Given the description of an element on the screen output the (x, y) to click on. 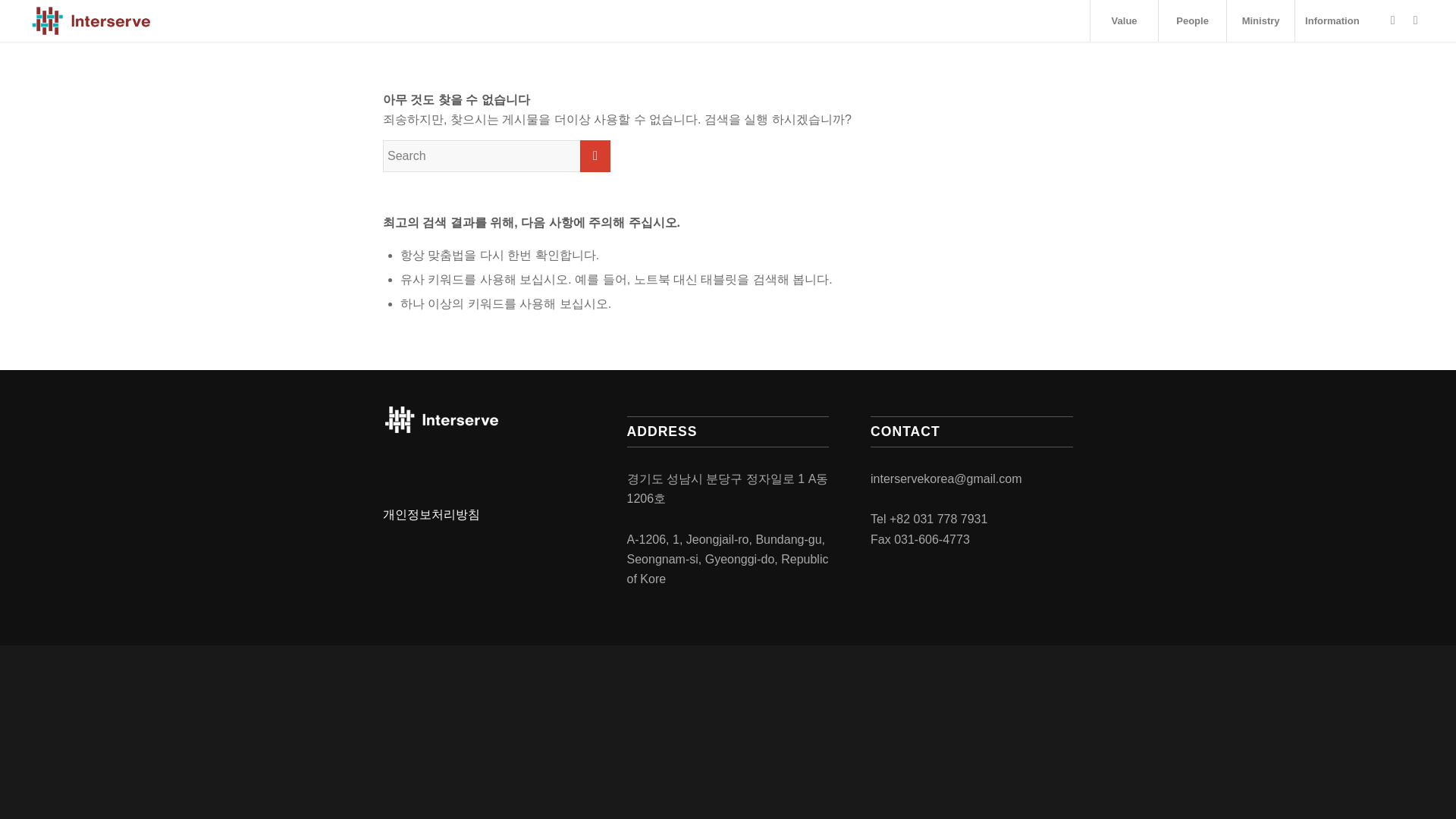
Information (1332, 20)
Youtube (1415, 20)
Ministry (1259, 20)
People (1191, 20)
Facebook (1393, 20)
Value (1123, 20)
